Given the description of an element on the screen output the (x, y) to click on. 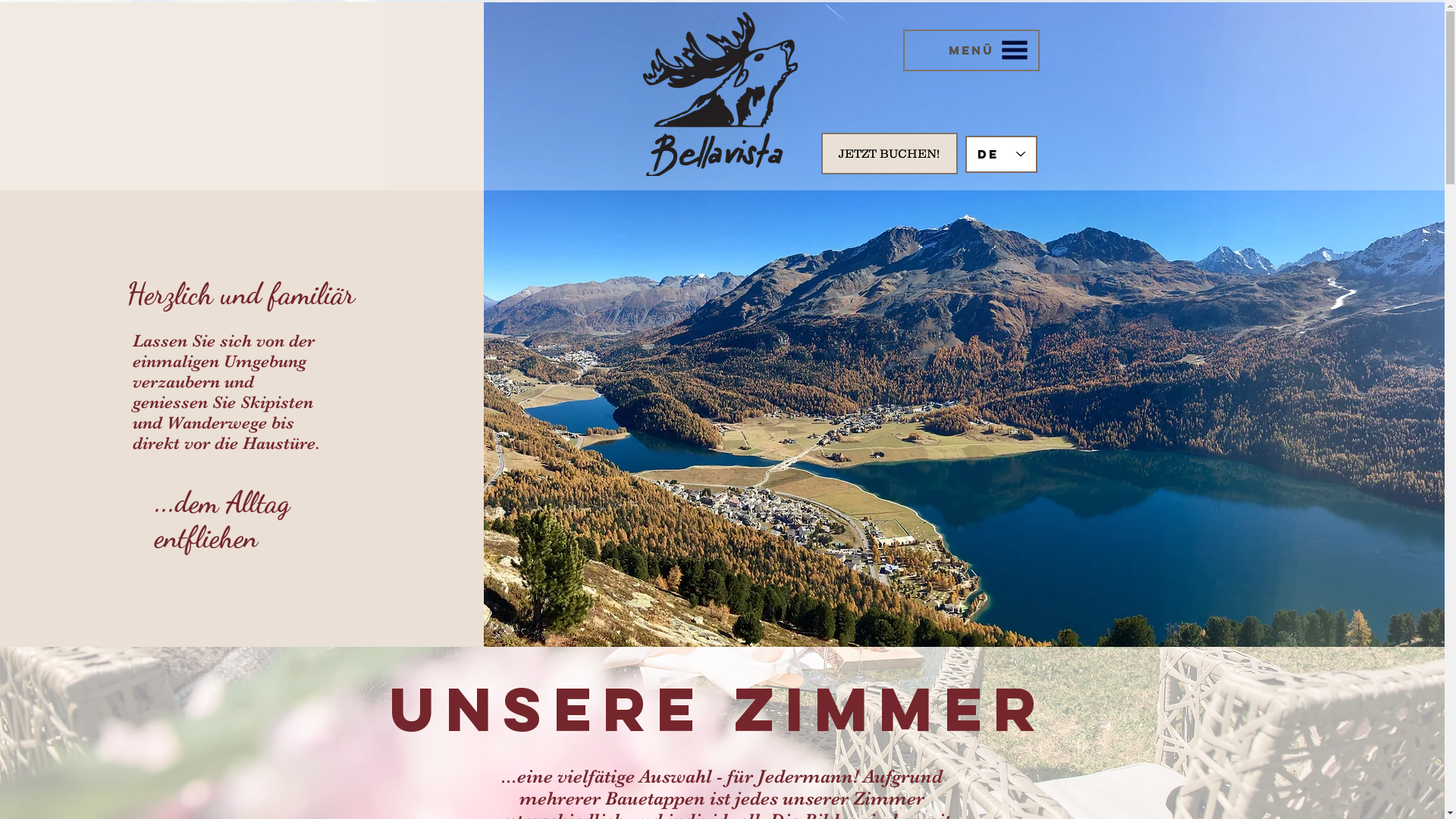
Wix Weather Element type: hover (970, 101)
JETZT BUCHEN! Element type: text (888, 153)
